Given the description of an element on the screen output the (x, y) to click on. 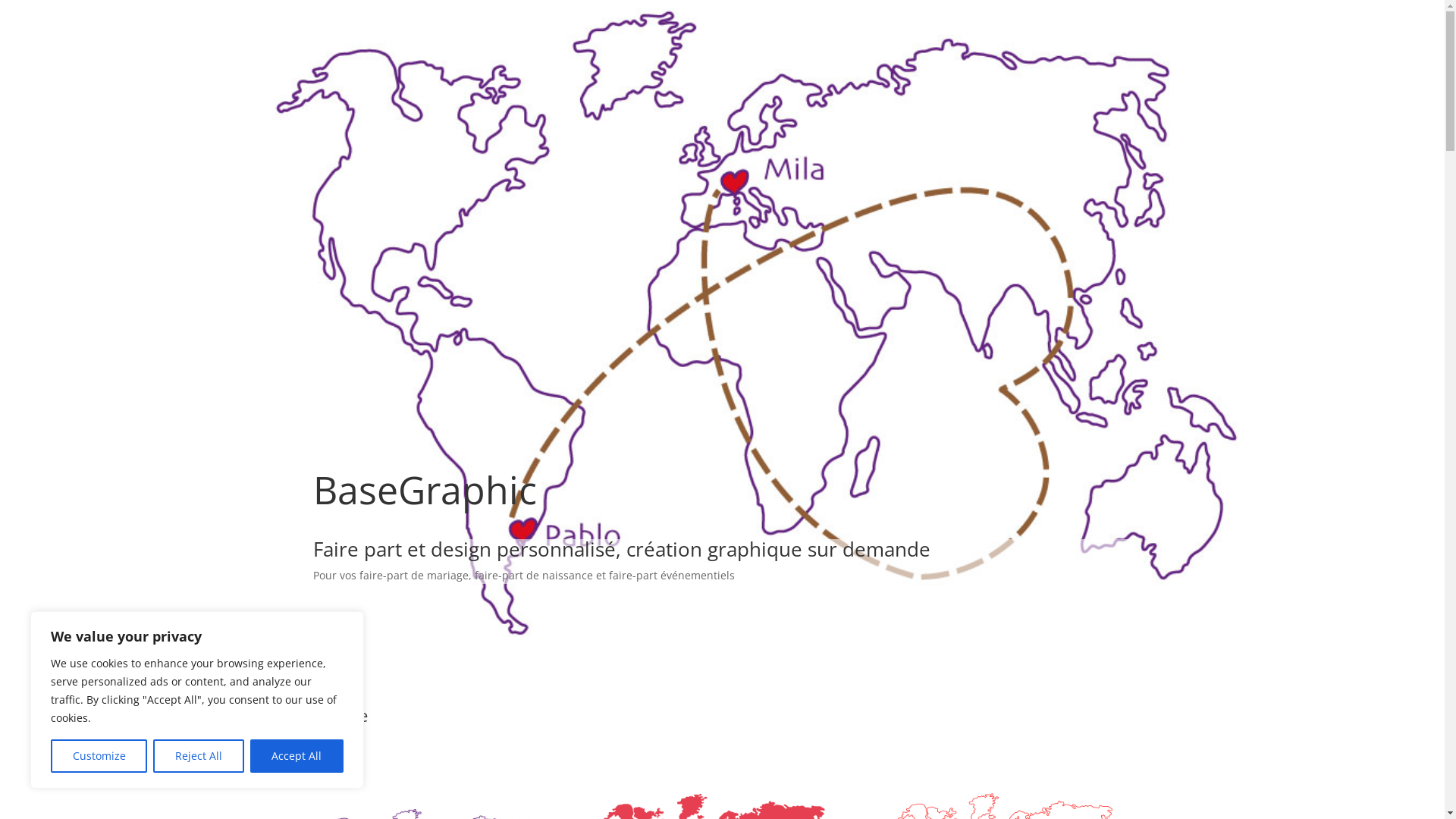
Accept All Element type: text (296, 755)
Customize Element type: text (98, 755)
Reject All Element type: text (198, 755)
